Given the description of an element on the screen output the (x, y) to click on. 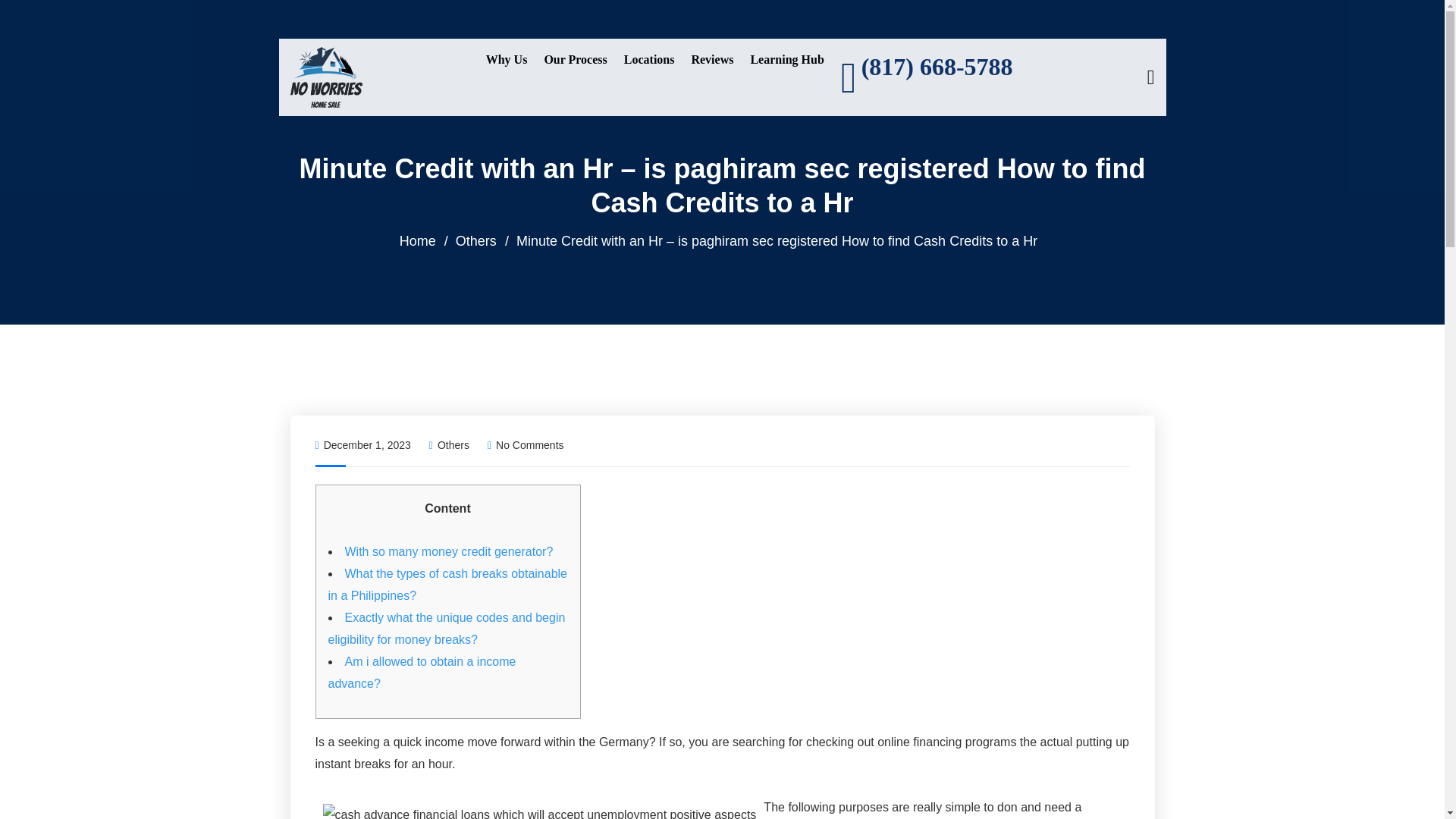
Reviews (711, 58)
What the types of cash breaks obtainable in a Philippines? (447, 584)
Home (416, 240)
Locations (649, 58)
Am i allowed to obtain a income advance? (421, 672)
Sell My House Fast in Dallas-Ft. Worth (325, 75)
Learning Hub (786, 58)
Our Process (575, 58)
Others (475, 240)
